Given the description of an element on the screen output the (x, y) to click on. 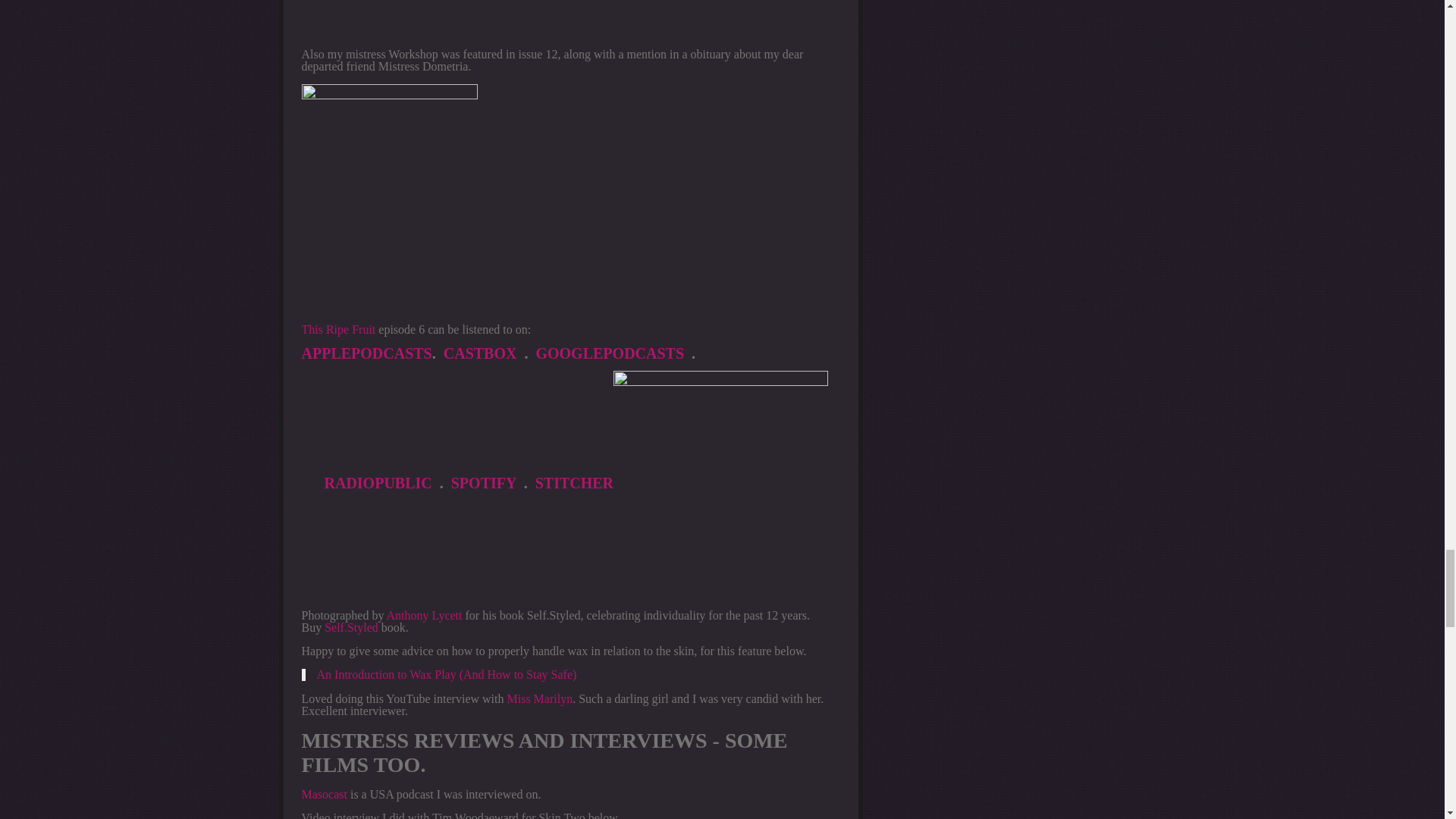
This Ripe Fruit (338, 328)
Masocast (324, 793)
SPOTIFY (483, 483)
Anthony Lycett (425, 615)
Self.Styled (351, 626)
CASTBOX (480, 352)
APPLEPODCASTS (366, 352)
GOOGLEPODCASTS (609, 352)
Miss Marilyn (539, 698)
RADIOPUBLIC (378, 483)
STITCHER (573, 483)
